Given the description of an element on the screen output the (x, y) to click on. 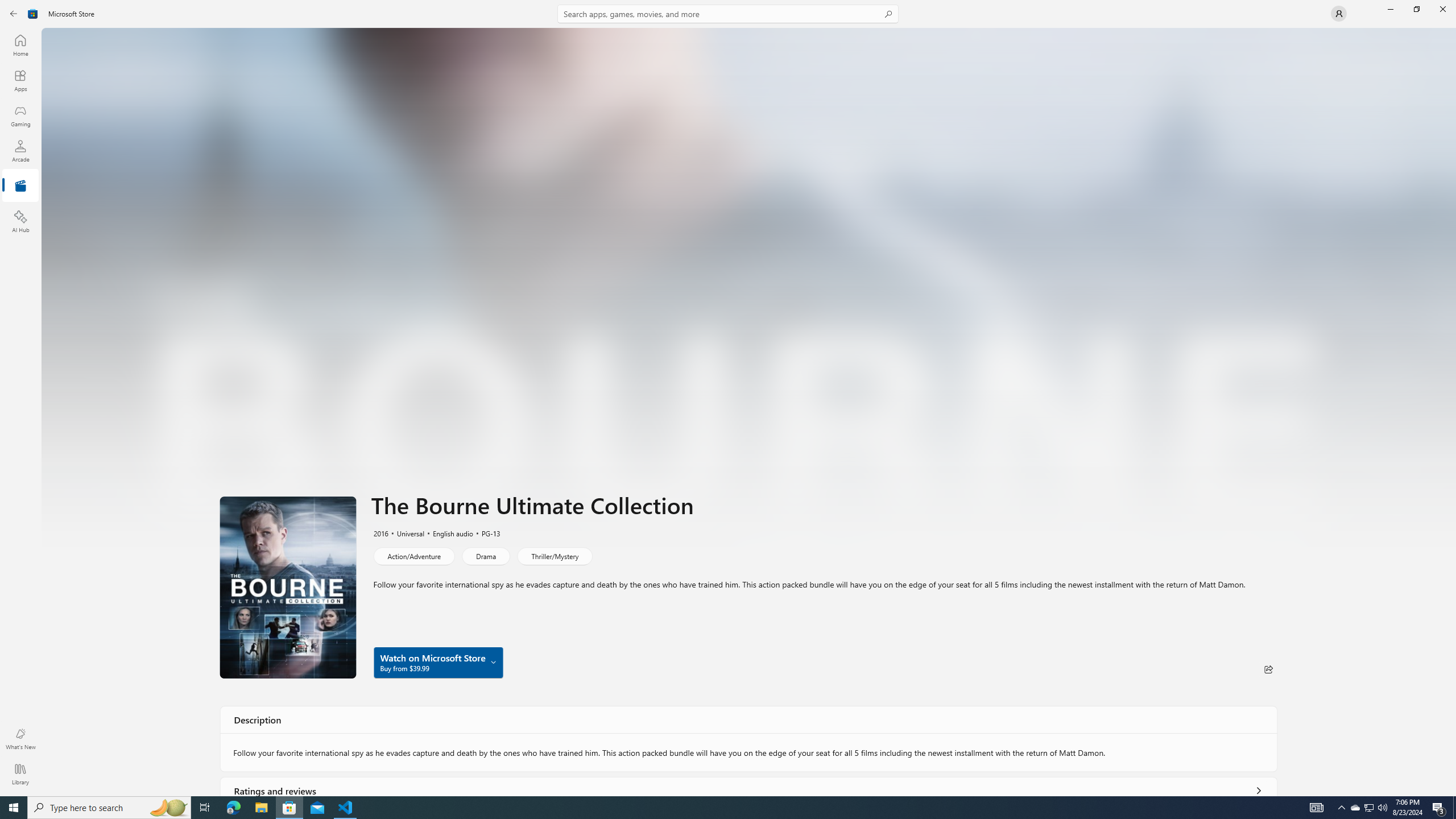
Thriller/Mystery (554, 556)
Watch on Microsoft Store Buy from $39.99 (437, 662)
Back (13, 13)
Apps (20, 80)
Arcade (20, 150)
User profile (1338, 13)
AI Hub (20, 221)
Close Microsoft Store (1442, 9)
English audio (447, 533)
Class: Image (32, 13)
Gaming (20, 115)
